Given the description of an element on the screen output the (x, y) to click on. 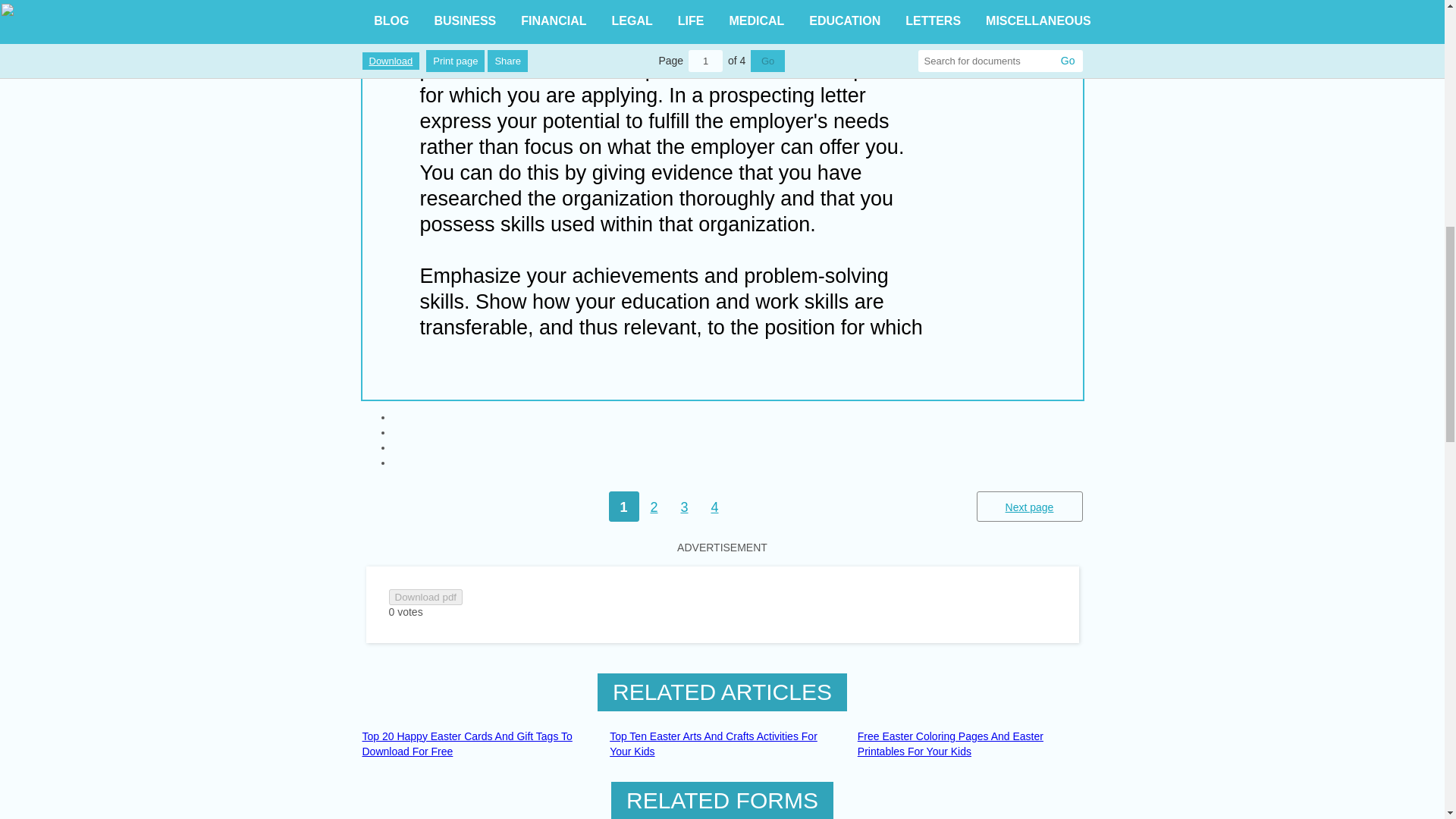
Top Ten Easter Arts And Crafts Activities For Your Kids (722, 744)
1 (623, 506)
Top 20 Happy Easter Cards And Gift Tags To Download For Free (475, 744)
Top 20 Happy Easter Cards And Gift Tags To Download For Free (475, 744)
Size: 33 KB (425, 596)
Download pdf (425, 596)
Download pdf (425, 596)
3 (683, 506)
Top Ten Easter Arts And Crafts Activities For Your Kids (722, 744)
